Given the description of an element on the screen output the (x, y) to click on. 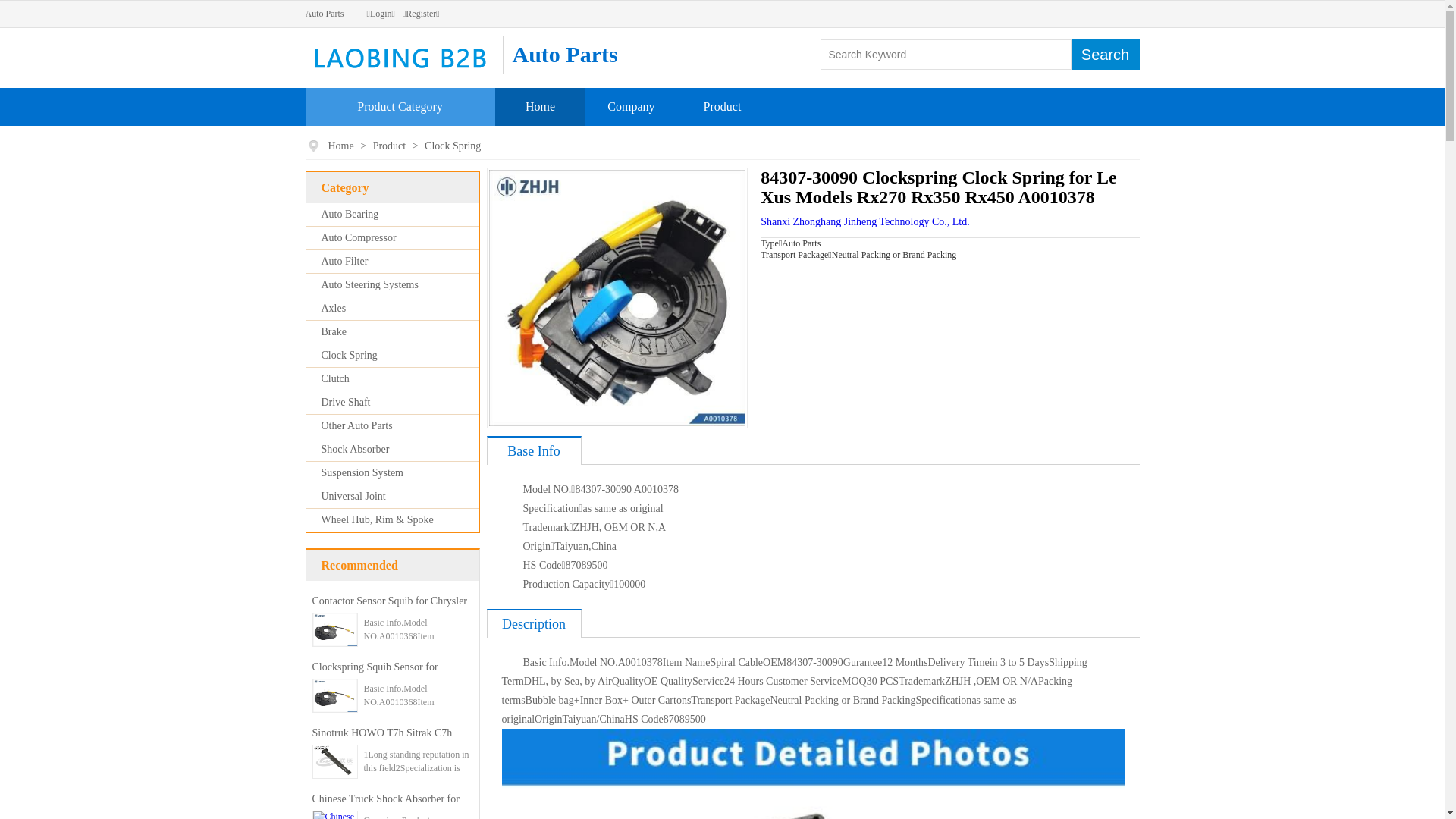
Home Element type: text (340, 145)
Home Element type: text (540, 106)
Suspension System Element type: text (362, 472)
Clutch Element type: text (335, 378)
Clock Spring Element type: text (452, 145)
Company Element type: text (630, 106)
Shanxi Zhonghang Jinheng Technology Co., Ltd. Element type: text (864, 221)
Drive Shaft Element type: text (345, 401)
Other Auto Parts Element type: text (356, 425)
Auto Bearing Element type: text (350, 213)
Universal Joint Element type: text (353, 496)
Auto Parts Element type: text (323, 13)
Brake Element type: text (333, 331)
Search Element type: text (1104, 54)
Wheel Hub, Rim & Spoke Element type: text (377, 519)
Shock Absorber Element type: text (355, 449)
Auto Filter Element type: text (344, 260)
Auto Compressor Element type: text (358, 237)
Product Element type: text (722, 106)
Product Category Element type: text (399, 106)
Auto Steering Systems Element type: text (369, 284)
Product Element type: text (390, 145)
Axles Element type: text (333, 307)
Clock Spring Element type: text (349, 354)
